Given the description of an element on the screen output the (x, y) to click on. 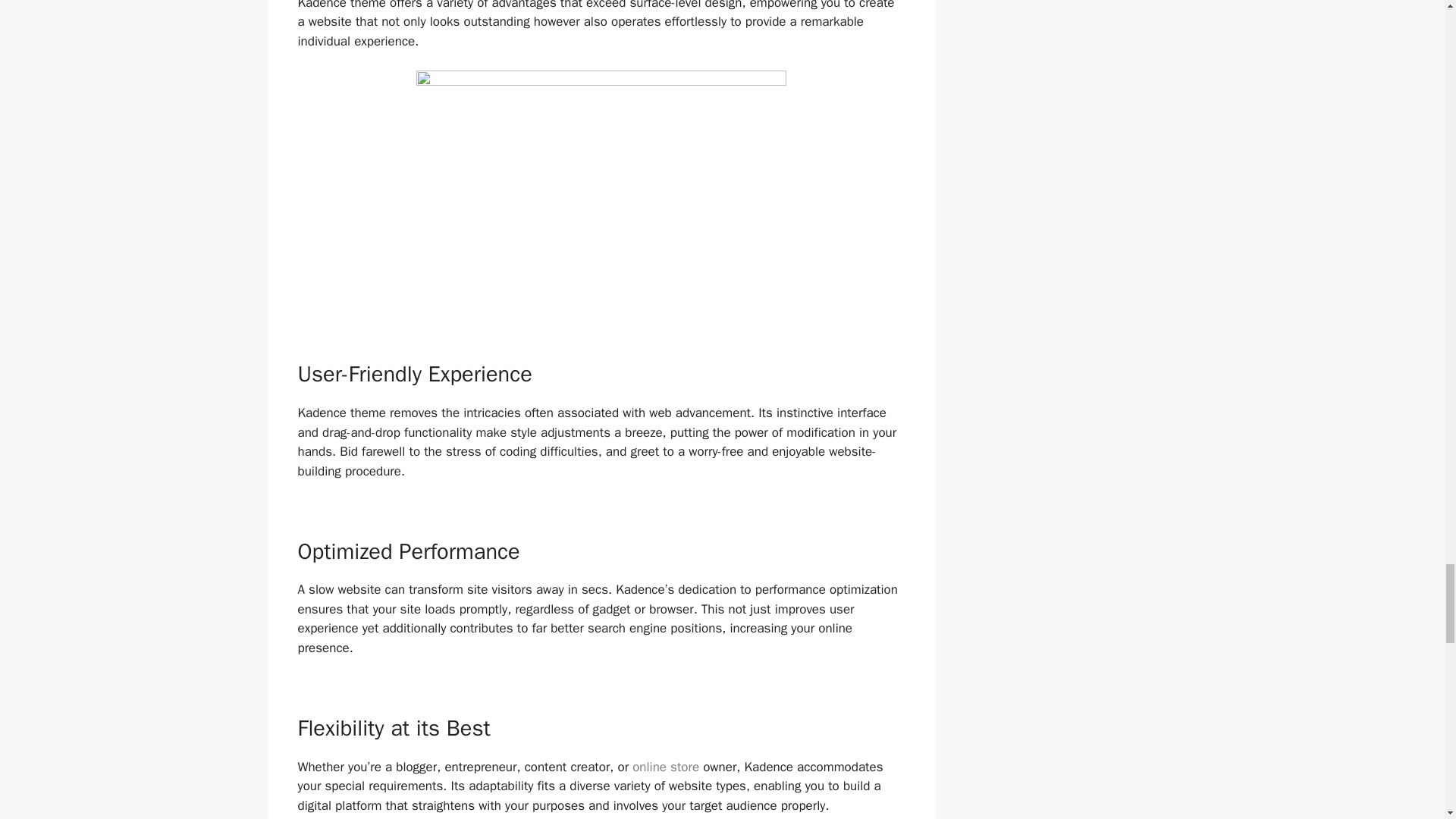
online store (664, 766)
